Given the description of an element on the screen output the (x, y) to click on. 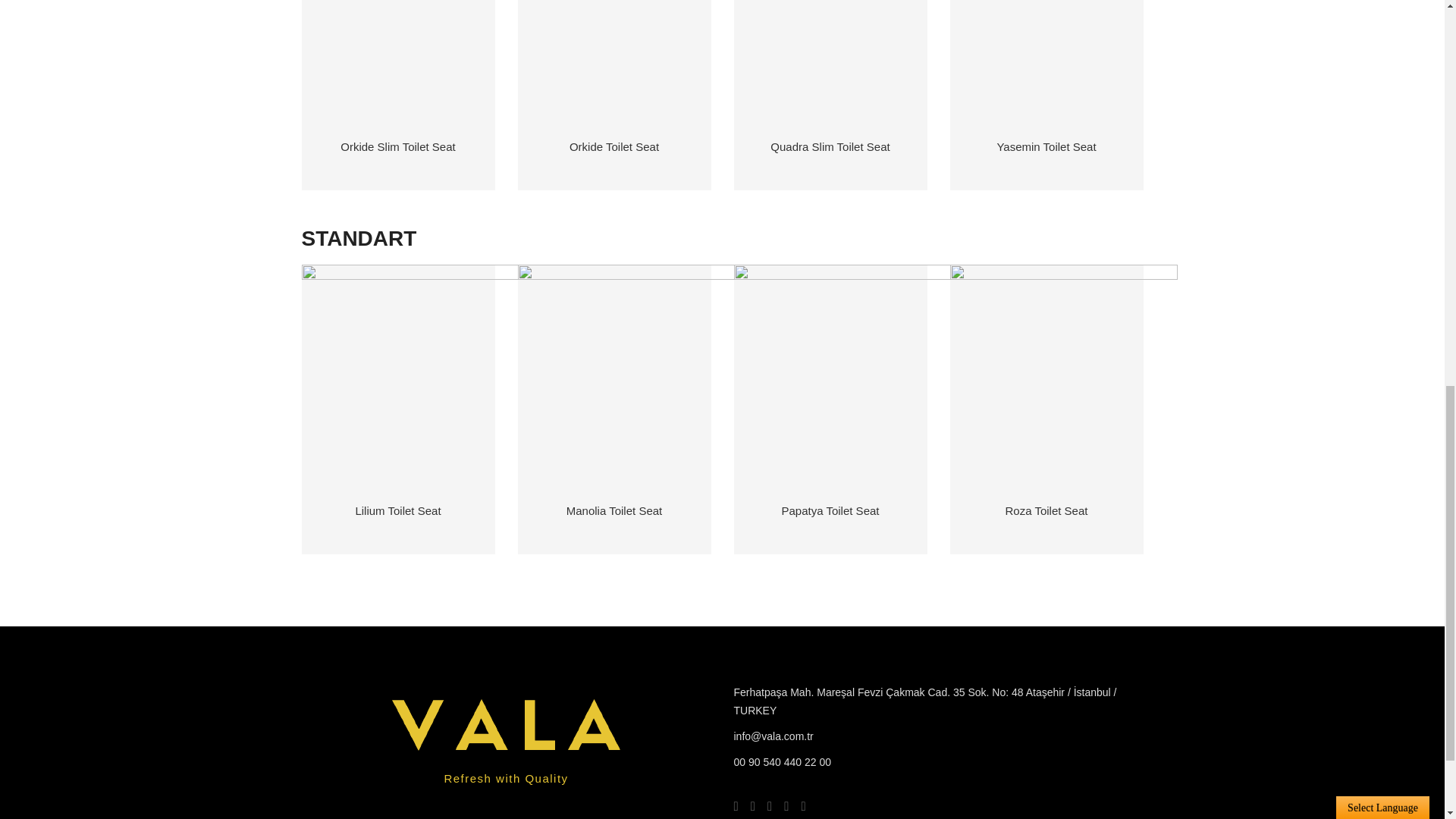
Papatya Toilet Seat (829, 510)
Orkide Toilet Seat (614, 146)
Quadra Slim Toilet Seat (829, 146)
Orkide Slim Toilet Seat (397, 146)
Roza Toilet Seat (1046, 510)
Lilium Toilet Seat (398, 510)
Manolia Toilet Seat (614, 510)
Yasemin Toilet Seat (1045, 146)
